Given the description of an element on the screen output the (x, y) to click on. 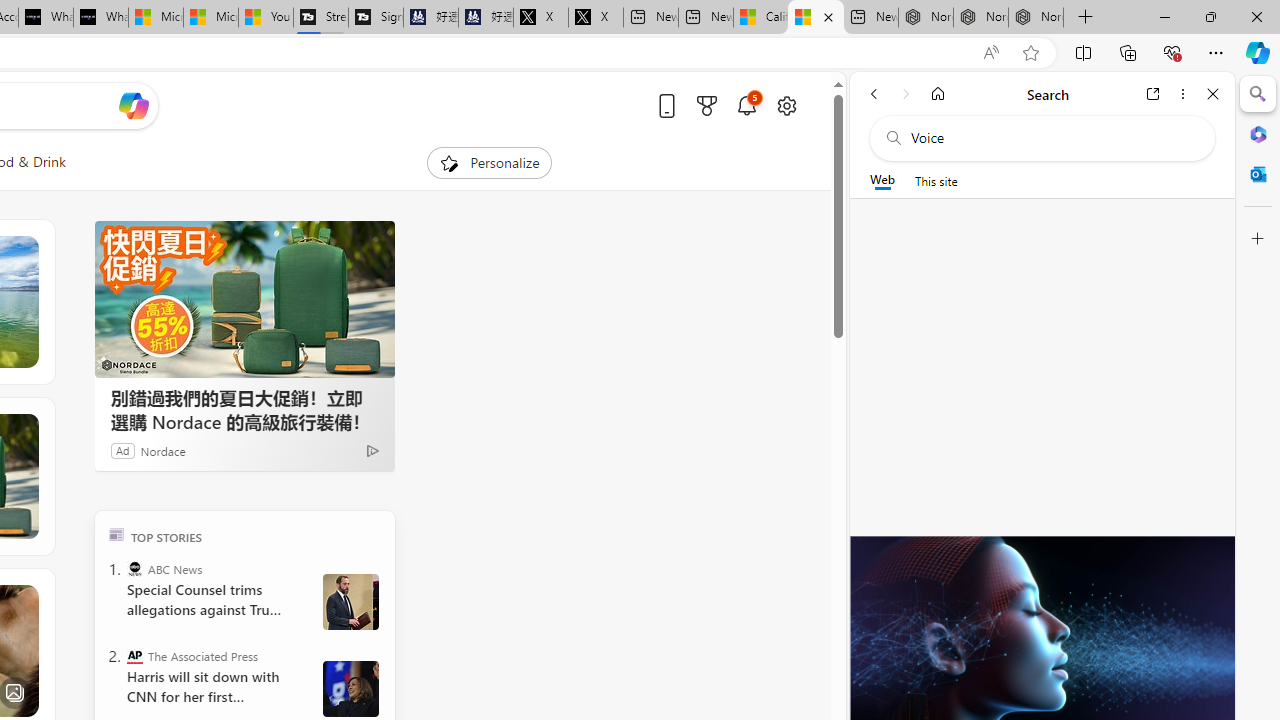
Microsoft rewards (707, 105)
Search the web (1051, 137)
The Associated Press (134, 655)
Customize (1258, 239)
Nordace - Siena Pro 15 Essential Set (1035, 17)
Open link in new tab (1153, 93)
Personalize (488, 162)
This site scope (936, 180)
Forward (906, 93)
